Given the description of an element on the screen output the (x, y) to click on. 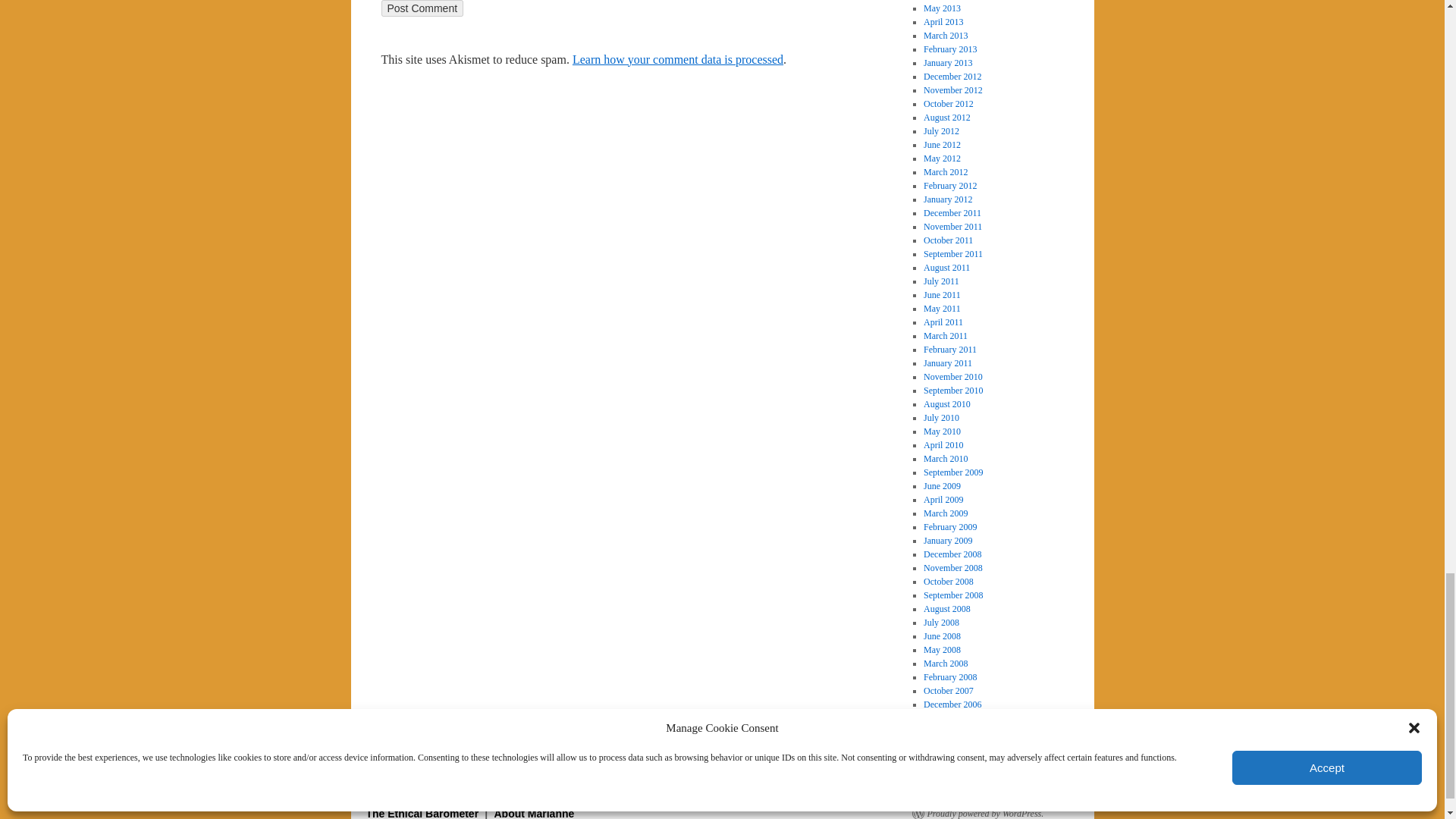
Post Comment (421, 8)
Learn how your comment data is processed (677, 59)
Post Comment (421, 8)
